Given the description of an element on the screen output the (x, y) to click on. 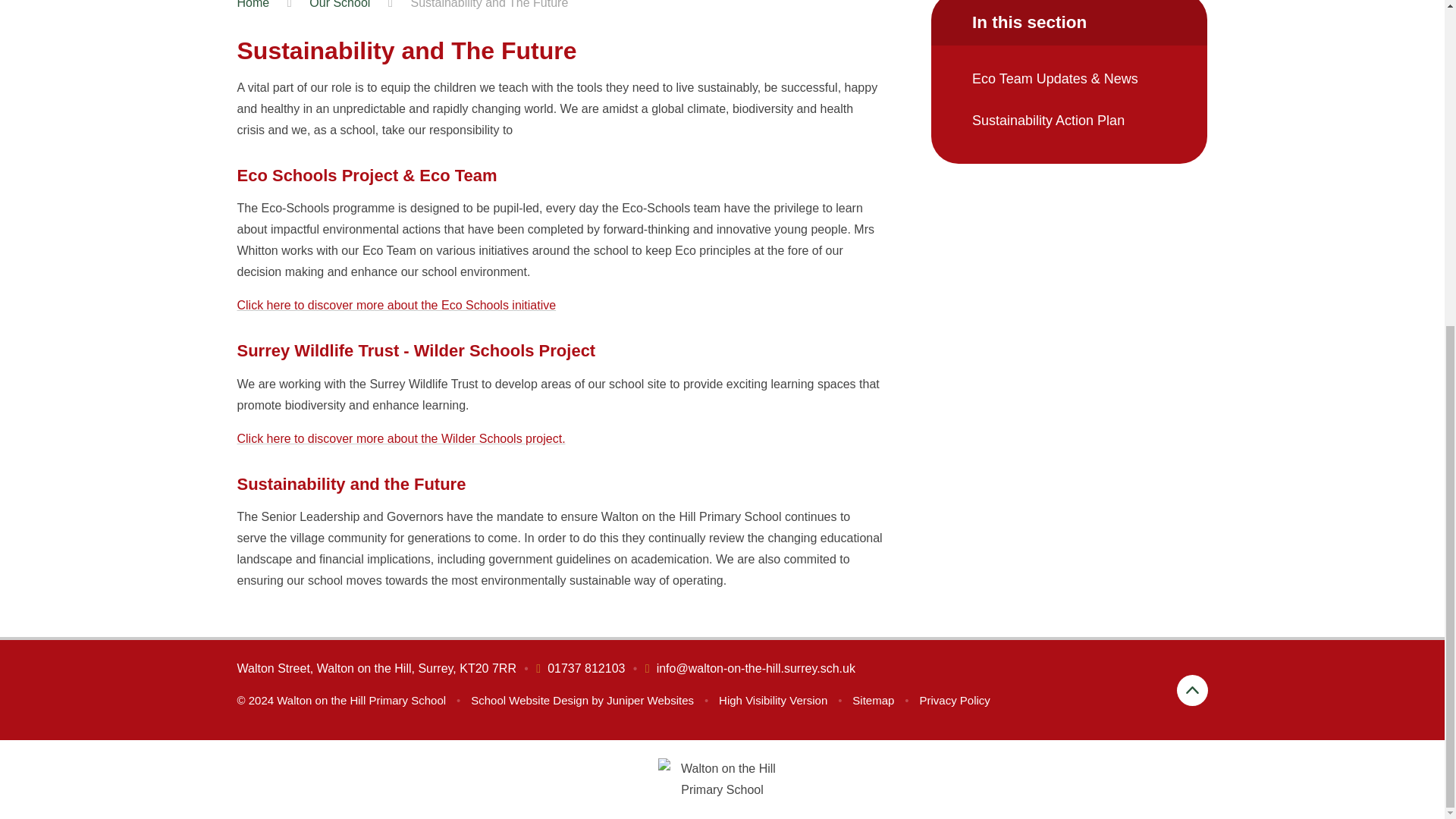
Send email to Walton on the Hill Primary School (750, 667)
Call Walton on the Hill Primary School (579, 667)
